Given the description of an element on the screen output the (x, y) to click on. 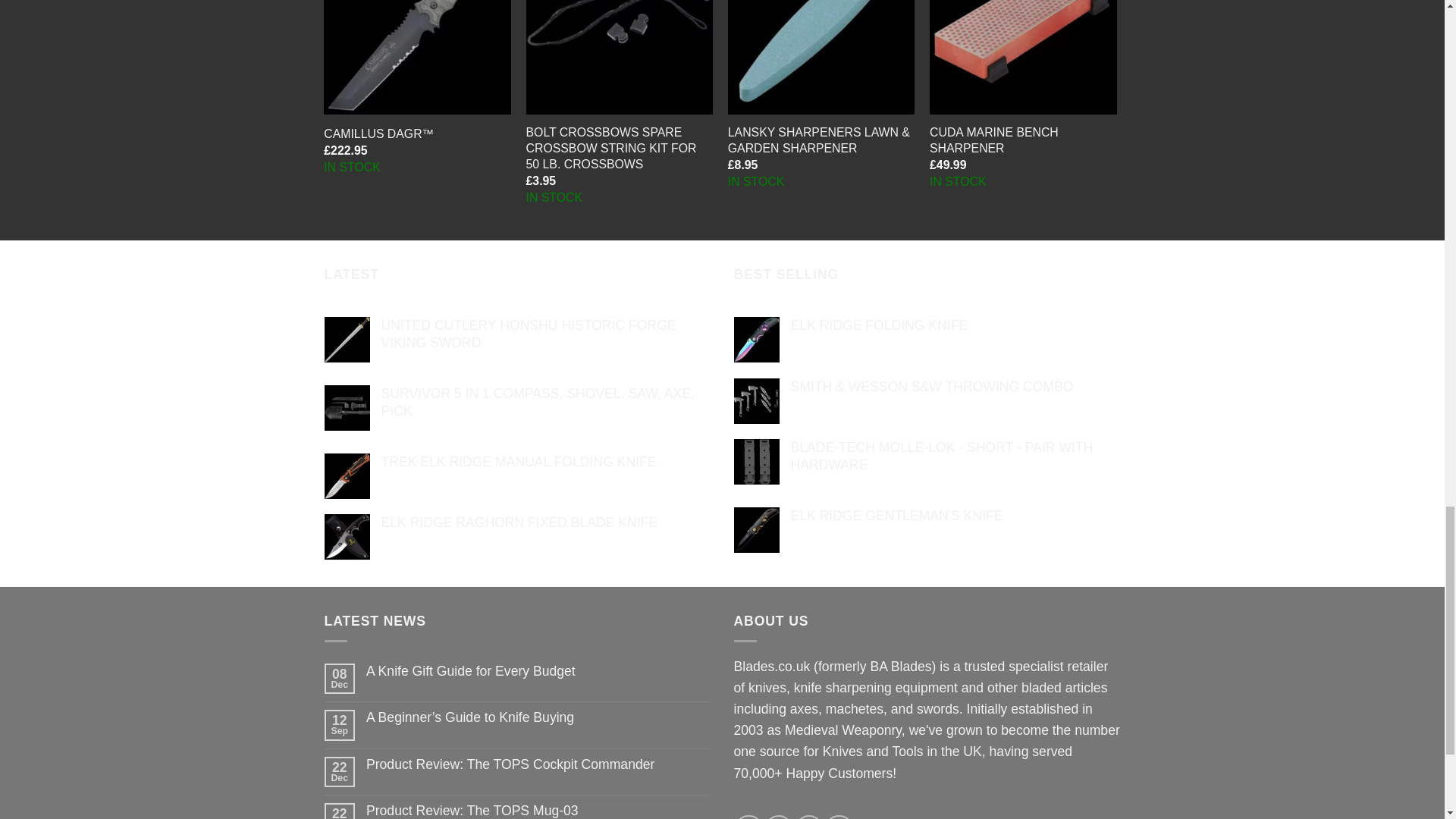
A Knife Gift Guide for Every Budget (538, 671)
